Given the description of an element on the screen output the (x, y) to click on. 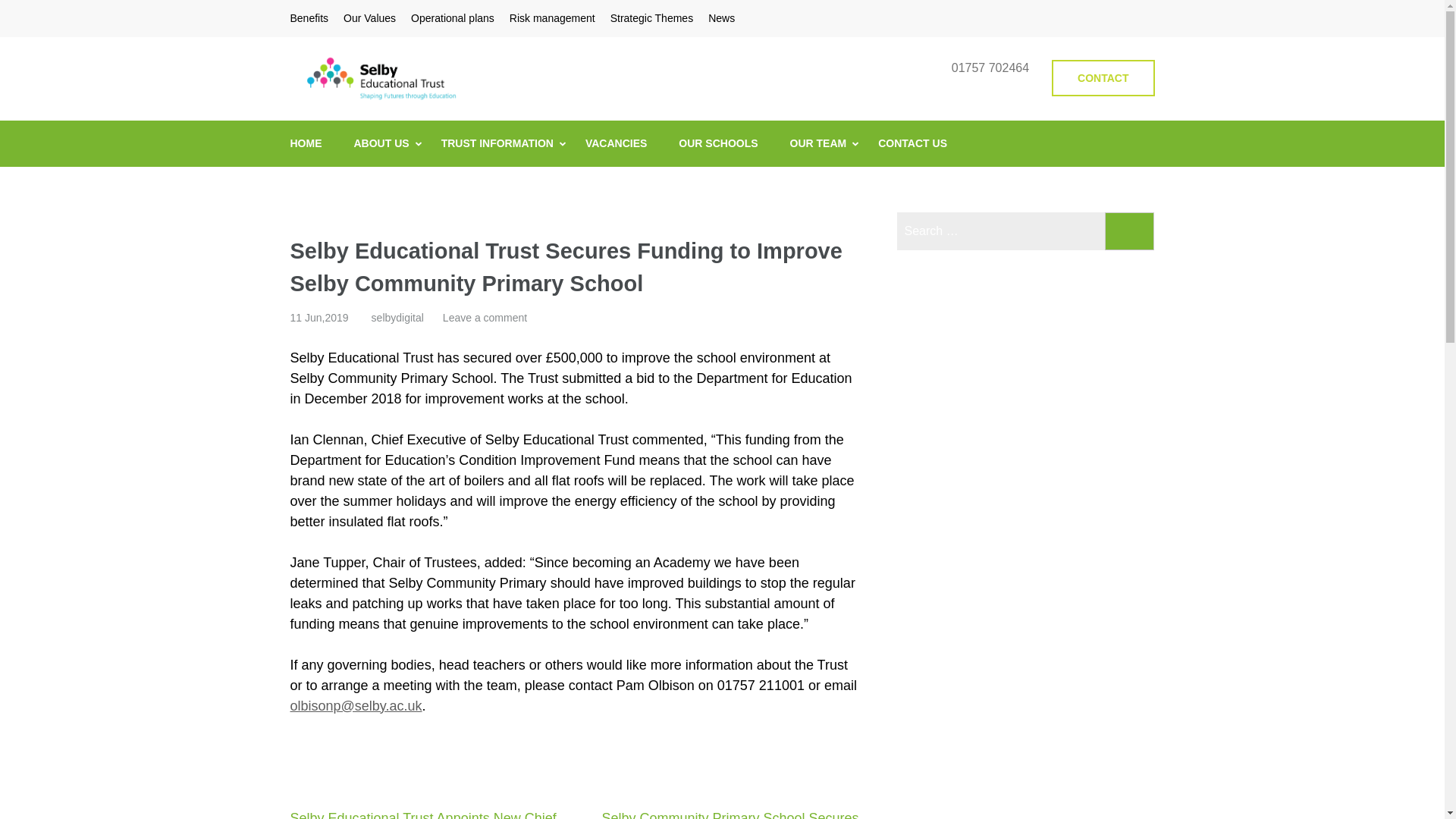
Benefits (309, 18)
Our Values (369, 18)
Operational plans (452, 18)
Search (1129, 231)
Risk management (552, 18)
Strategic Themes (651, 18)
Search (1129, 231)
